Given the description of an element on the screen output the (x, y) to click on. 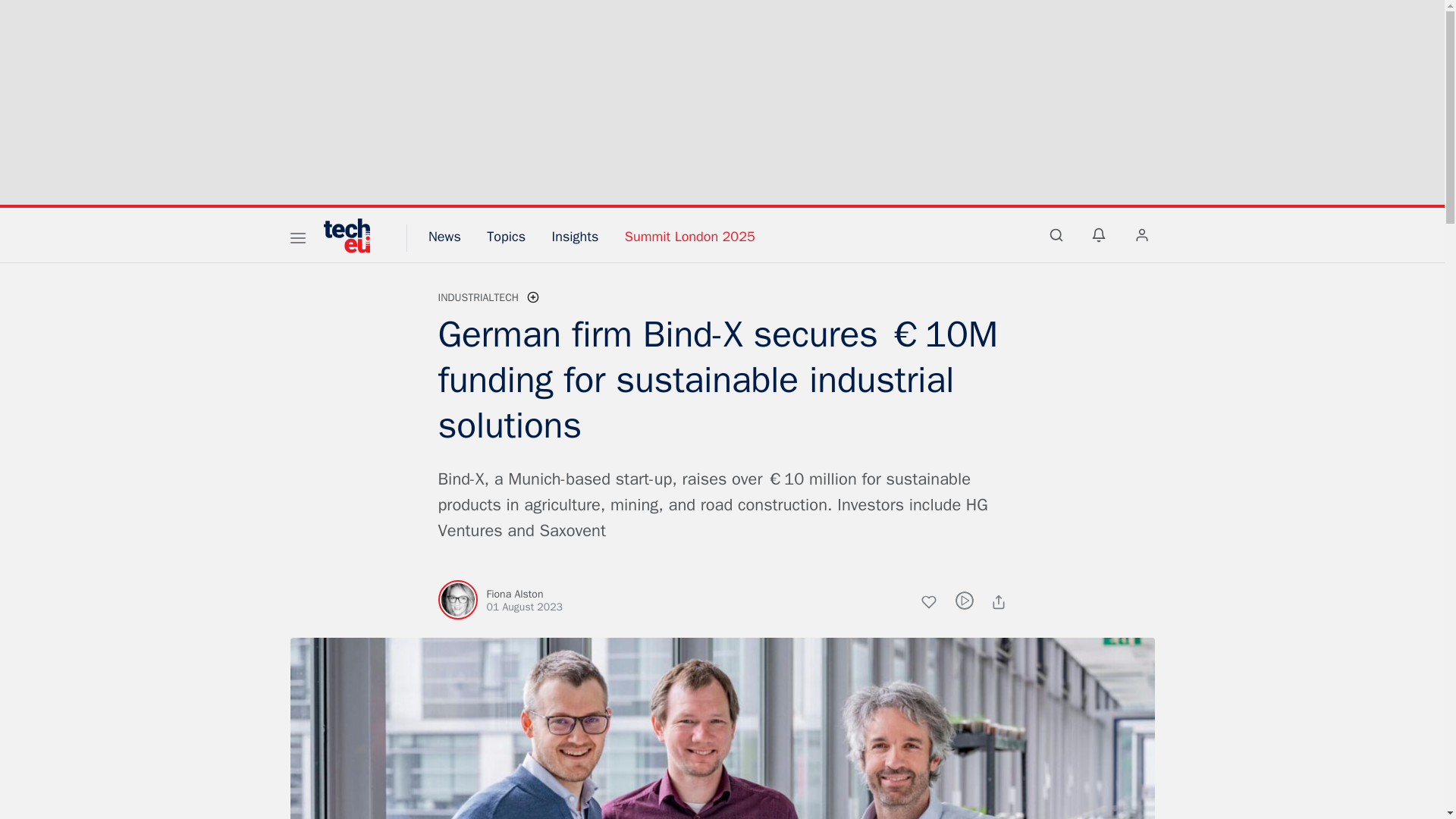
Listen this article (964, 600)
News (444, 236)
Summit London 2025 (689, 236)
Insights (574, 236)
Industrialtech (478, 297)
Like (936, 604)
Topics (505, 236)
